Given the description of an element on the screen output the (x, y) to click on. 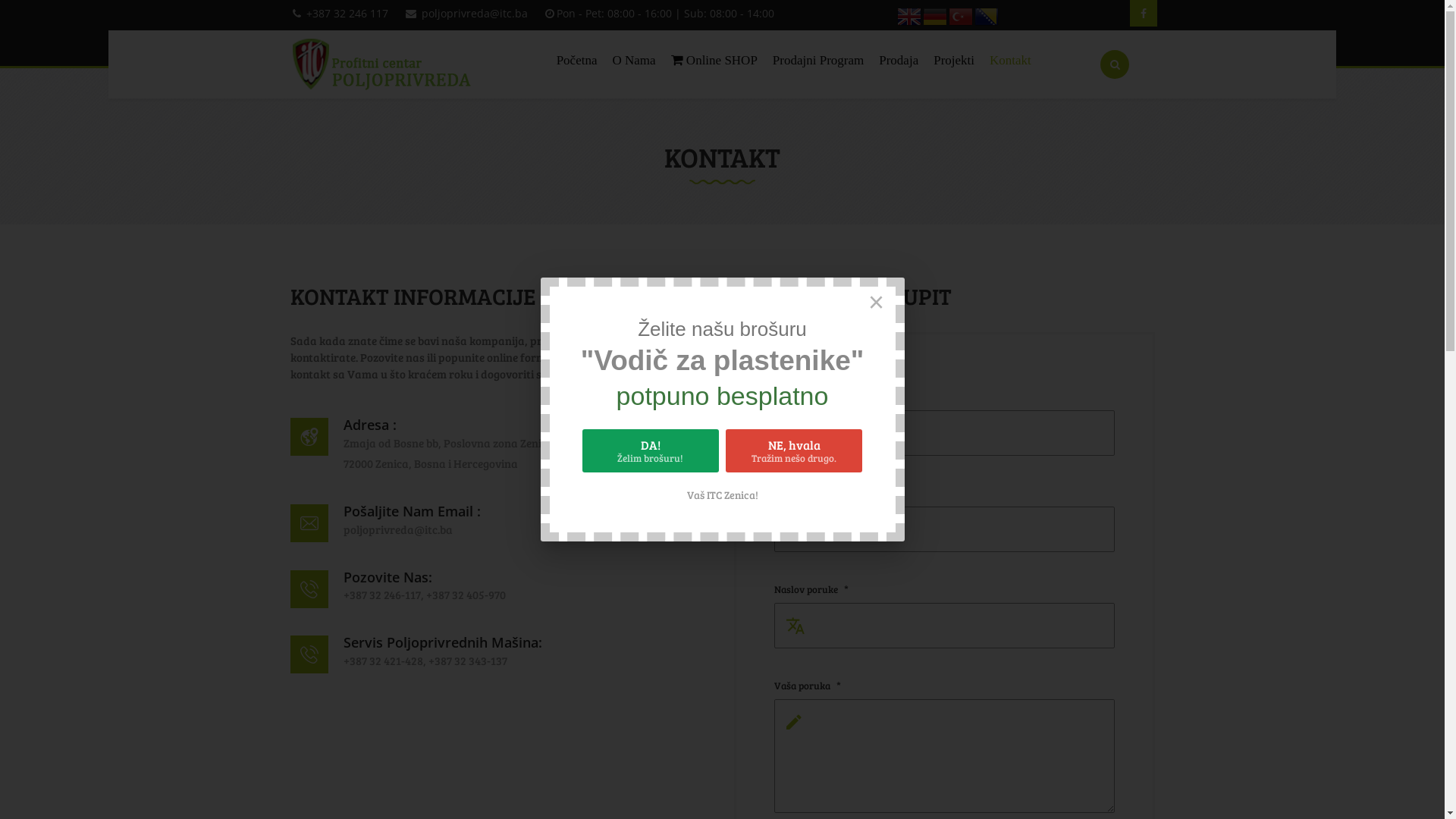
Prodajni Program Element type: text (818, 60)
Projekti Element type: text (953, 60)
+387 32 246 117 Element type: text (347, 13)
Bosnian Element type: hover (986, 15)
Kontakt Element type: text (1010, 60)
German Element type: hover (934, 15)
Prodaja Element type: text (898, 60)
O Nama Element type: text (633, 60)
English Element type: hover (909, 15)
poljoprivreda@itc.ba Element type: text (474, 13)
Turkish Element type: hover (960, 15)
Online SHOP Element type: text (714, 60)
